Given the description of an element on the screen output the (x, y) to click on. 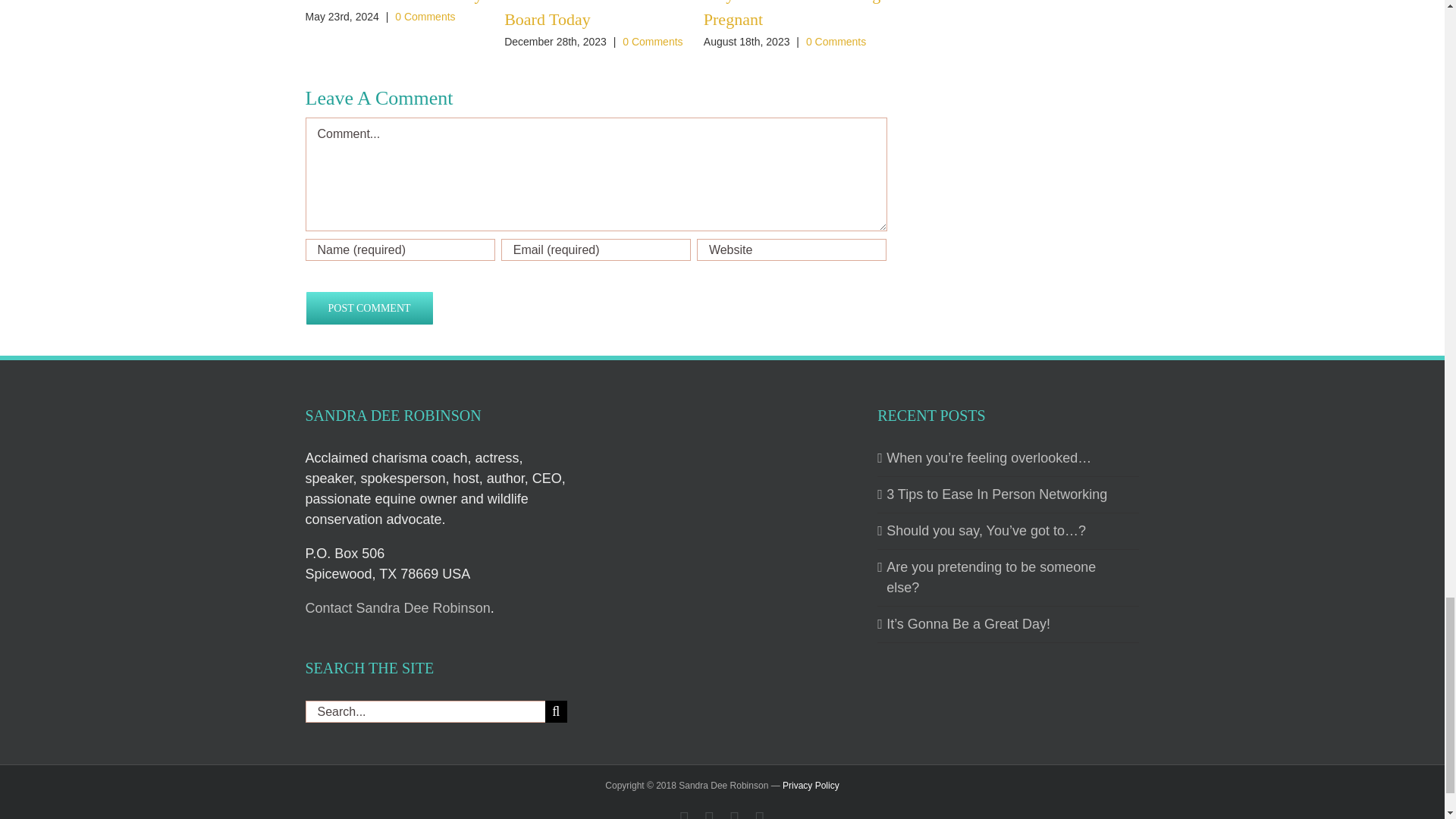
How to Create a Success Board Today (586, 14)
Post Comment (368, 308)
0 Comments (424, 16)
